Given the description of an element on the screen output the (x, y) to click on. 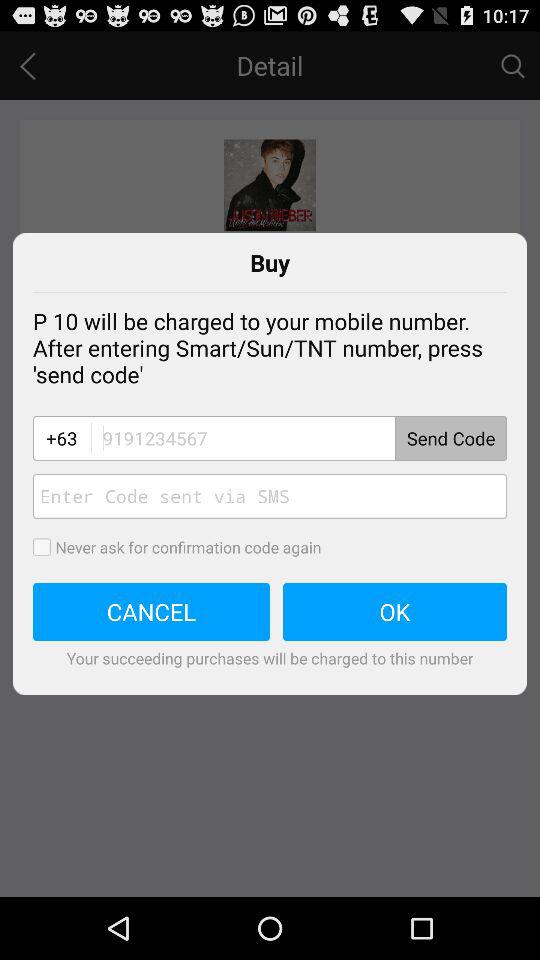
enter code (298, 438)
